Given the description of an element on the screen output the (x, y) to click on. 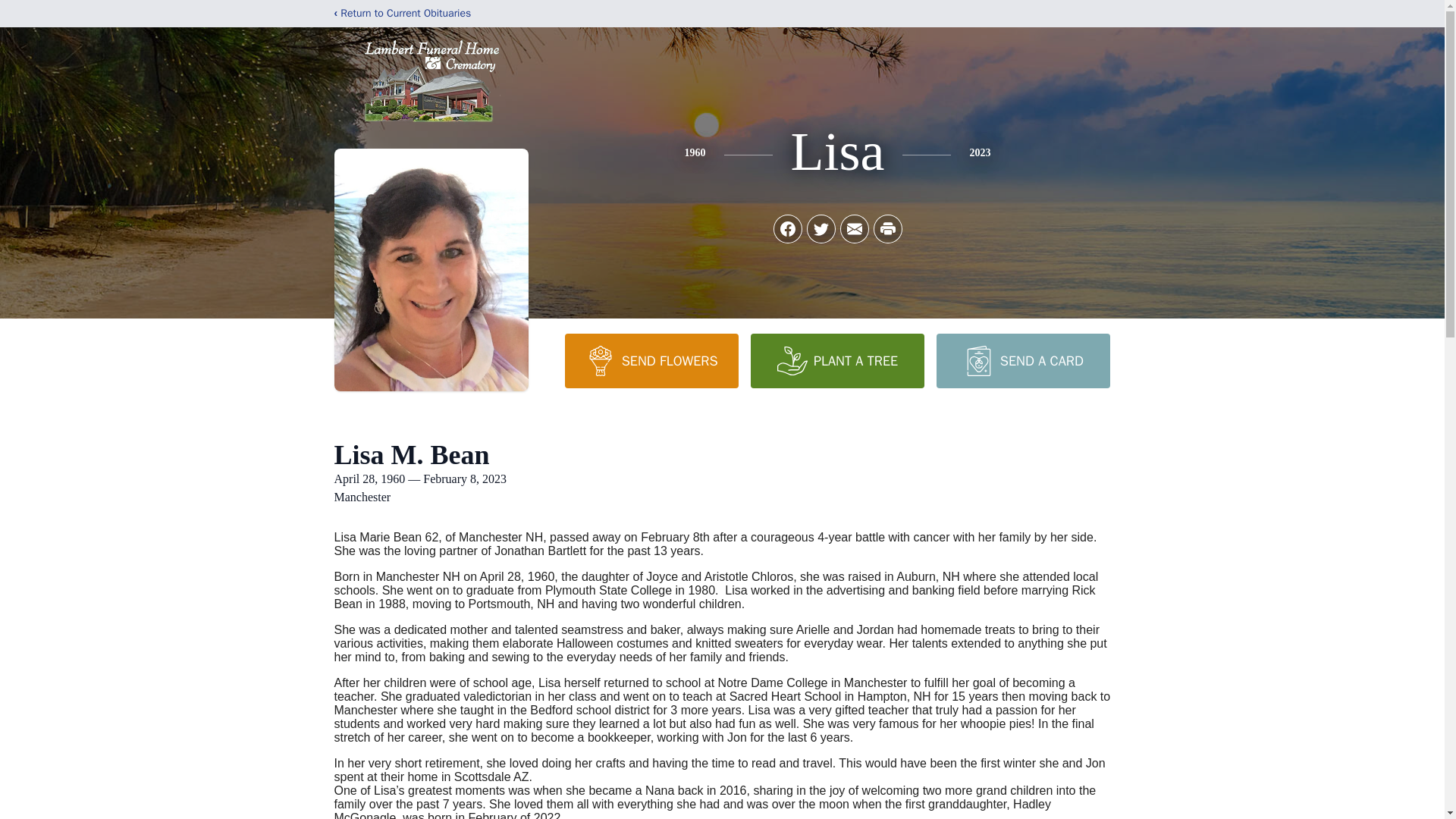
SEND FLOWERS (651, 360)
SEND A CARD (1022, 360)
PLANT A TREE (837, 360)
